Given the description of an element on the screen output the (x, y) to click on. 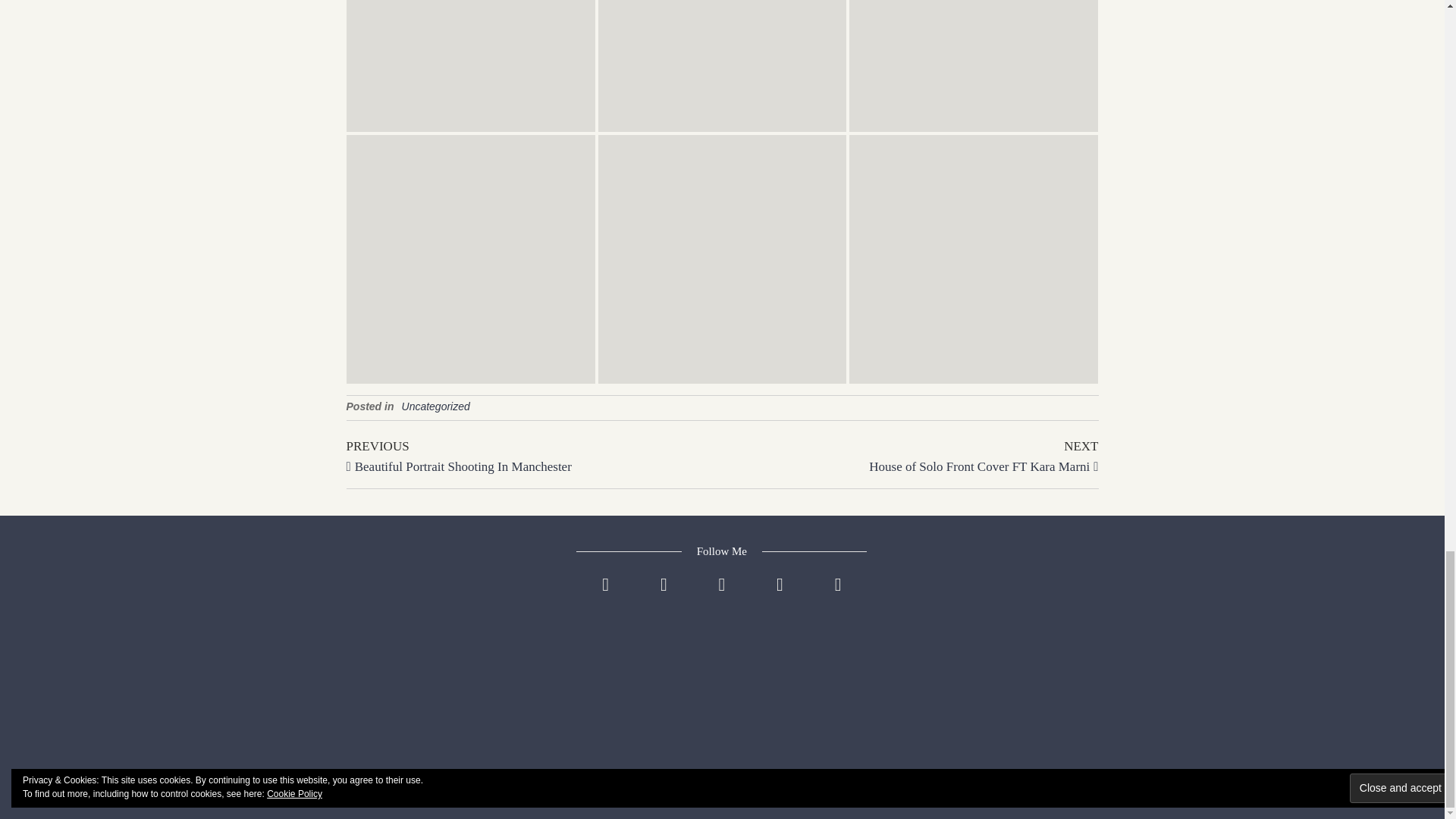
Twitter (605, 596)
Uncategorized (435, 406)
Youtube (838, 596)
Instagram (909, 454)
Facebook (722, 596)
Pinterest (663, 596)
